Given the description of an element on the screen output the (x, y) to click on. 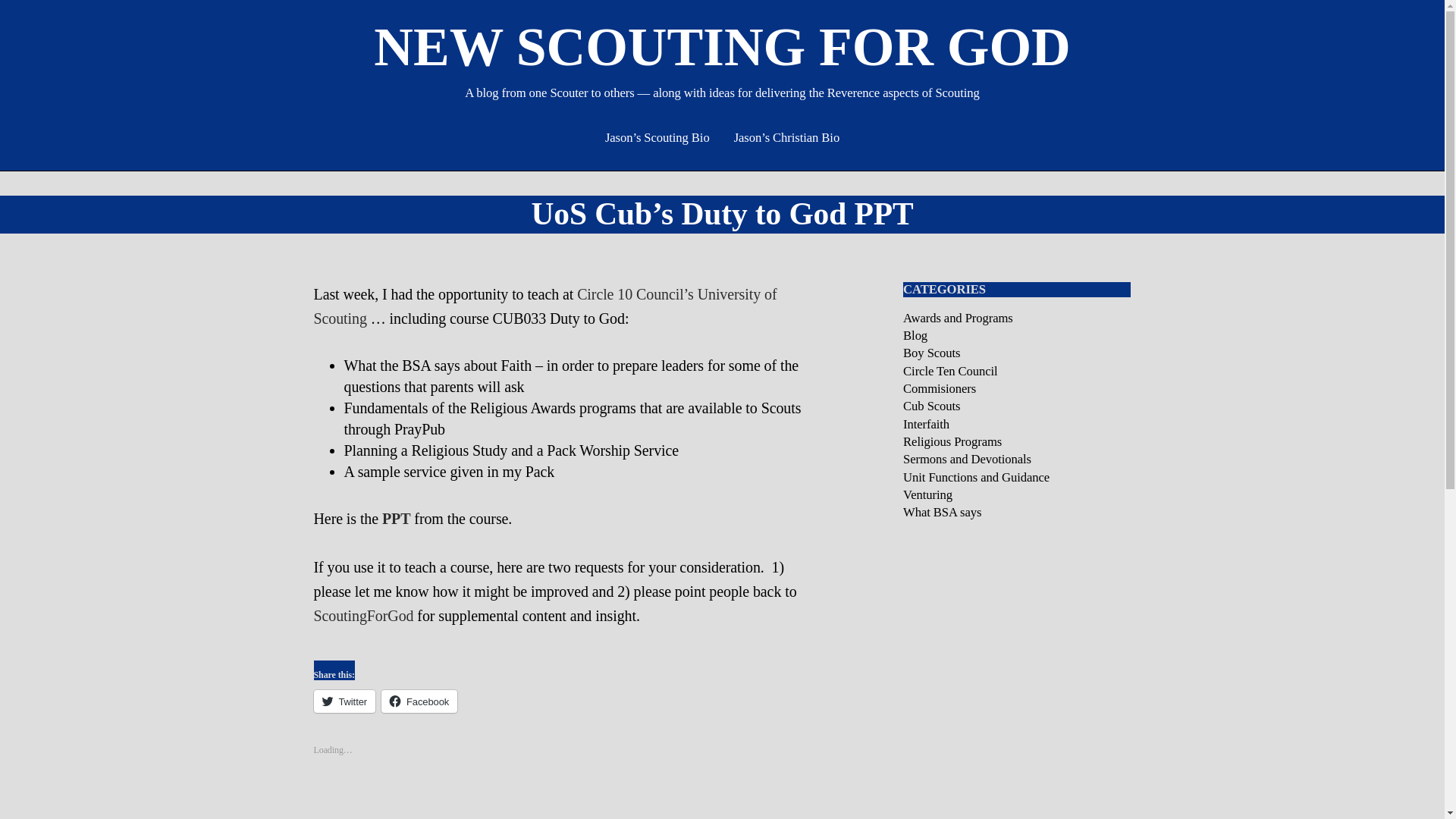
Religious Programs (951, 441)
ScoutingForGod (363, 615)
Venturing (927, 494)
Twitter (344, 701)
Boy Scouts (930, 352)
NEW SCOUTING FOR GOD (722, 46)
PPT (395, 518)
Blog (914, 335)
Cub Scouts (930, 405)
Interfaith (925, 423)
Like or Reblog (560, 757)
Click to share on Facebook (419, 701)
Sermons and Devotionals (966, 459)
Unit Functions and Guidance (975, 477)
Commisioners (938, 388)
